Given the description of an element on the screen output the (x, y) to click on. 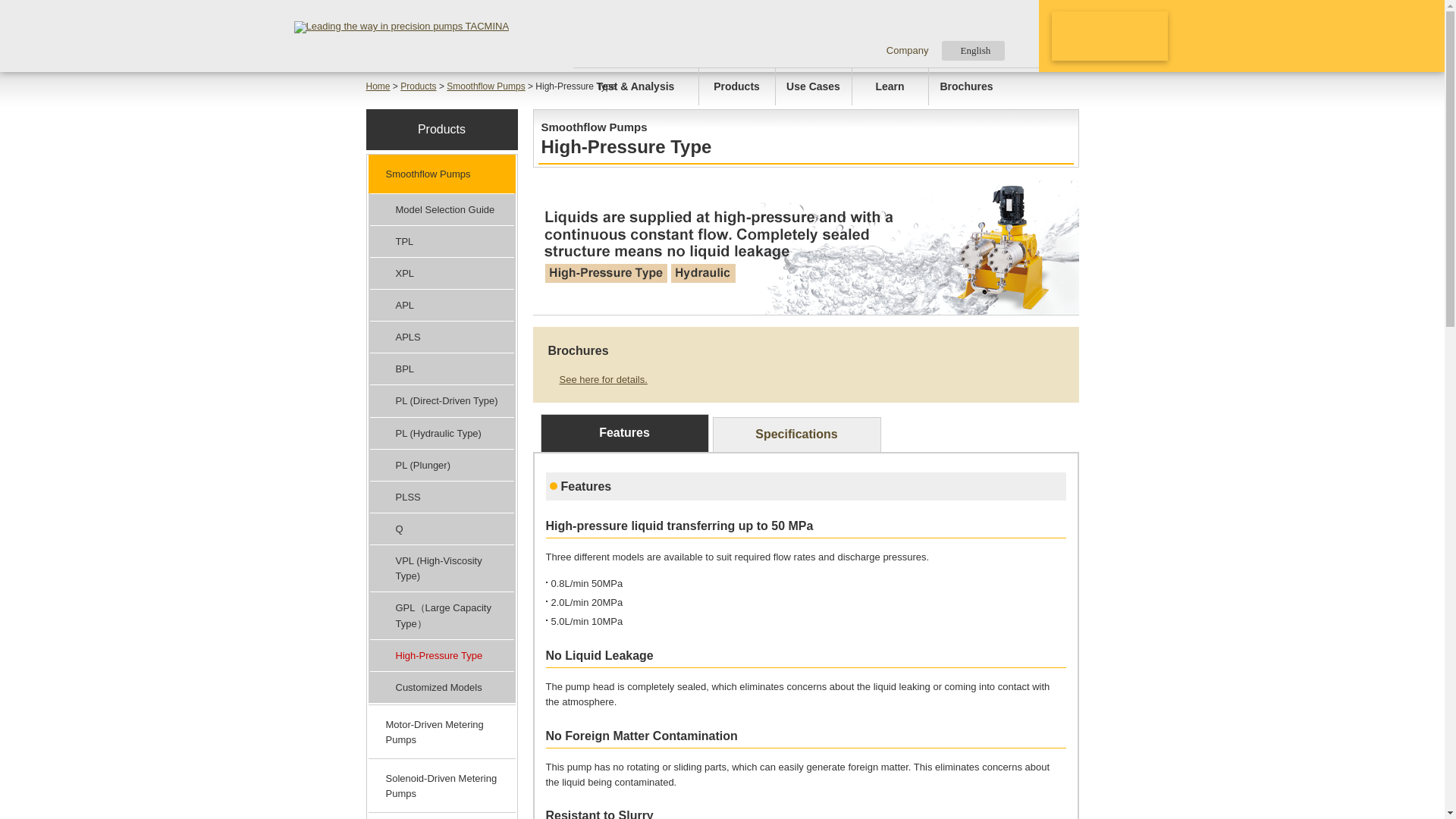
Smoothflow Pumps (441, 173)
Use Cases (812, 86)
Specifications (796, 434)
Products (417, 86)
Brochures (966, 86)
Company (903, 50)
Model Selection Guide (441, 209)
Features (623, 433)
Products (736, 86)
Contact Us (1109, 35)
See here for details. (596, 379)
Learn (889, 86)
Smoothflow Pumps (485, 86)
Home (377, 86)
